Given the description of an element on the screen output the (x, y) to click on. 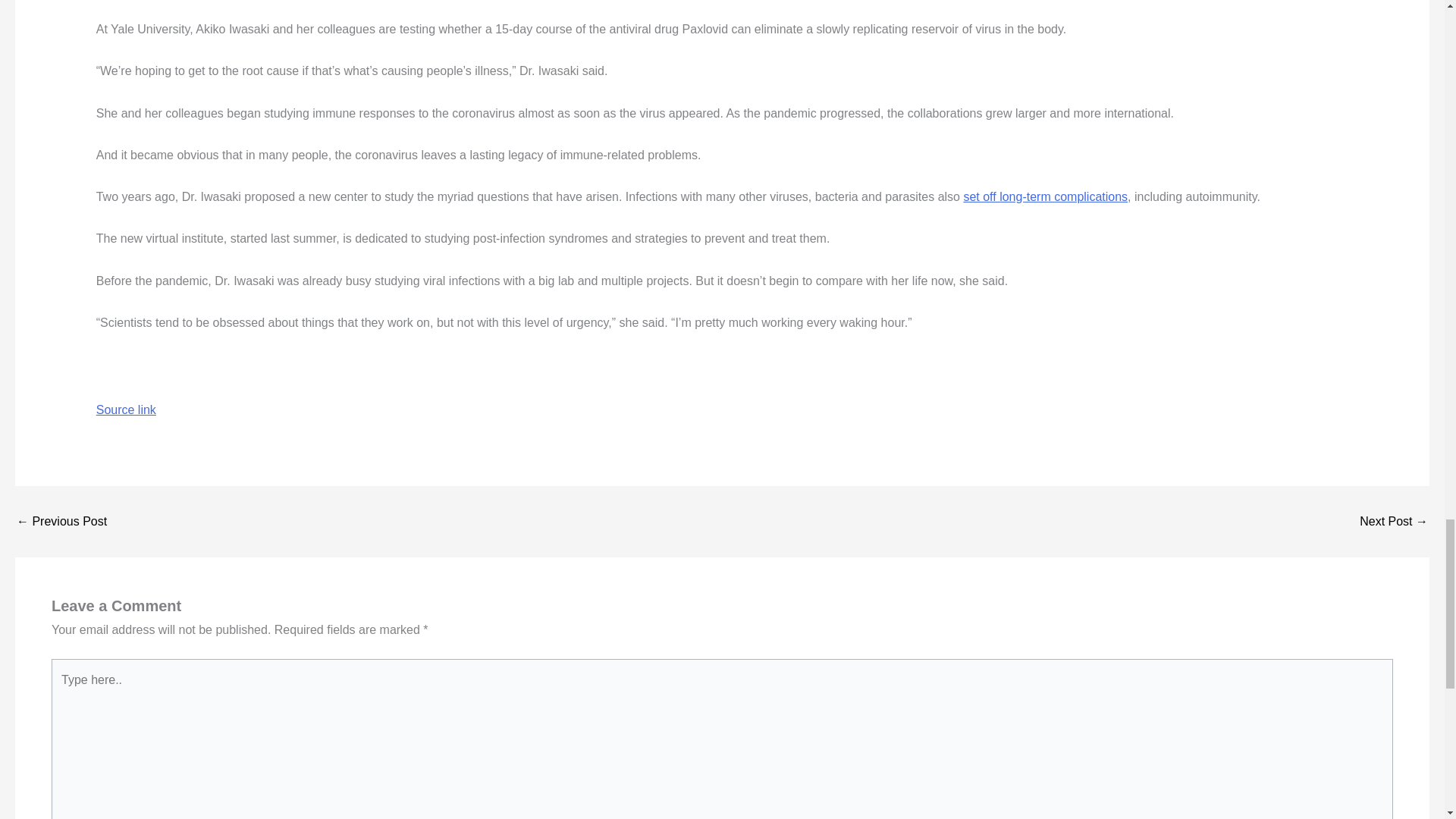
Luis Rubiales denies he is acquiring Dominican nationality (1393, 521)
Source link (125, 409)
set off long-term complications (1044, 196)
